Given the description of an element on the screen output the (x, y) to click on. 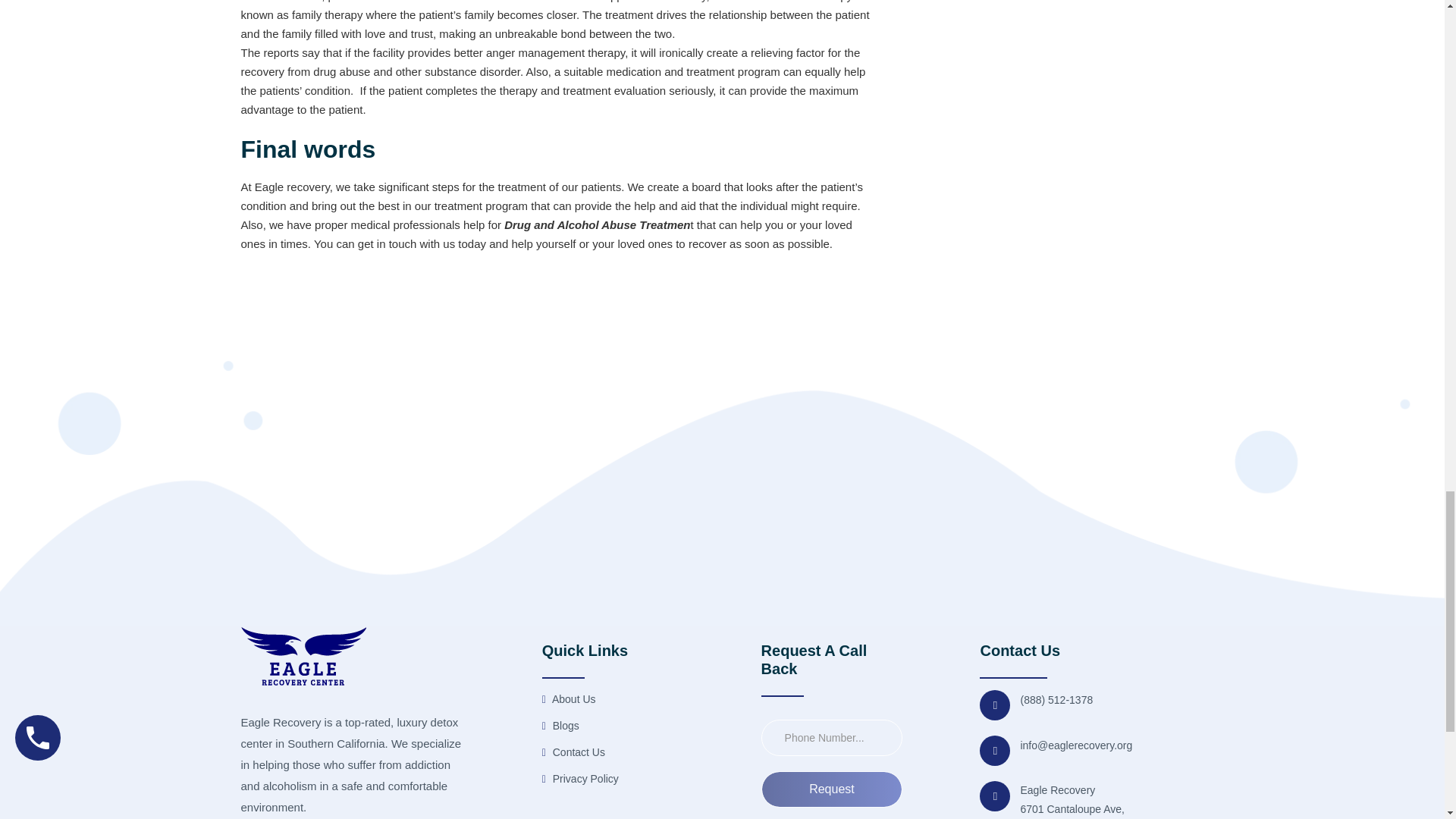
Privacy Policy (579, 778)
Request (831, 789)
Contact Us (573, 752)
Request (831, 789)
Blogs (560, 725)
About Us (568, 699)
